Given the description of an element on the screen output the (x, y) to click on. 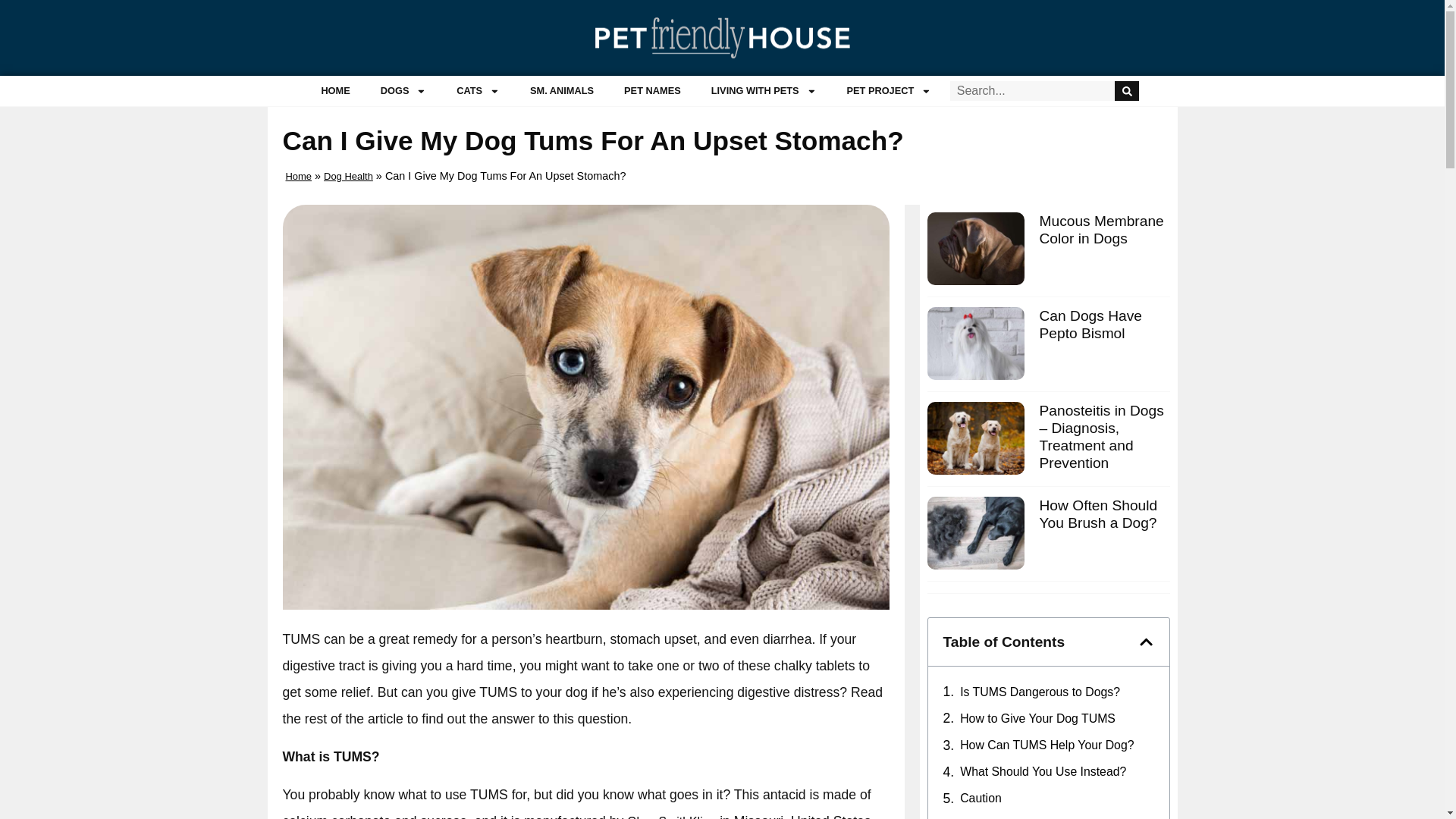
SM. ANIMALS (561, 90)
LIVING WITH PETS (763, 90)
CATS (478, 90)
DOGS (403, 90)
HOME (335, 90)
PET NAMES (651, 90)
PET PROJECT (888, 90)
